Given the description of an element on the screen output the (x, y) to click on. 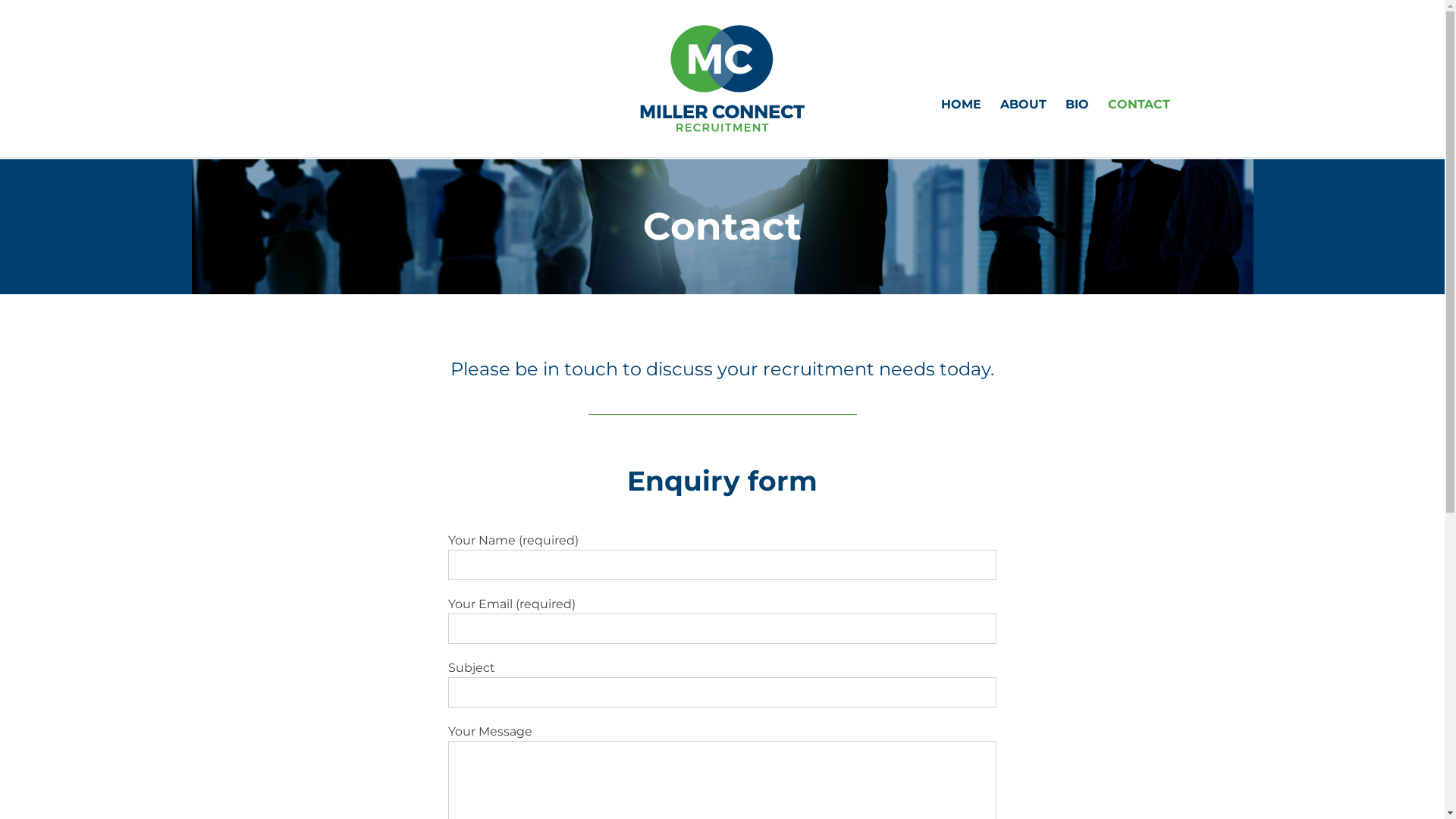
CONTACT Element type: text (1138, 104)
BIO Element type: text (1076, 104)
ABOUT Element type: text (1022, 104)
HOME Element type: text (960, 104)
